Given the description of an element on the screen output the (x, y) to click on. 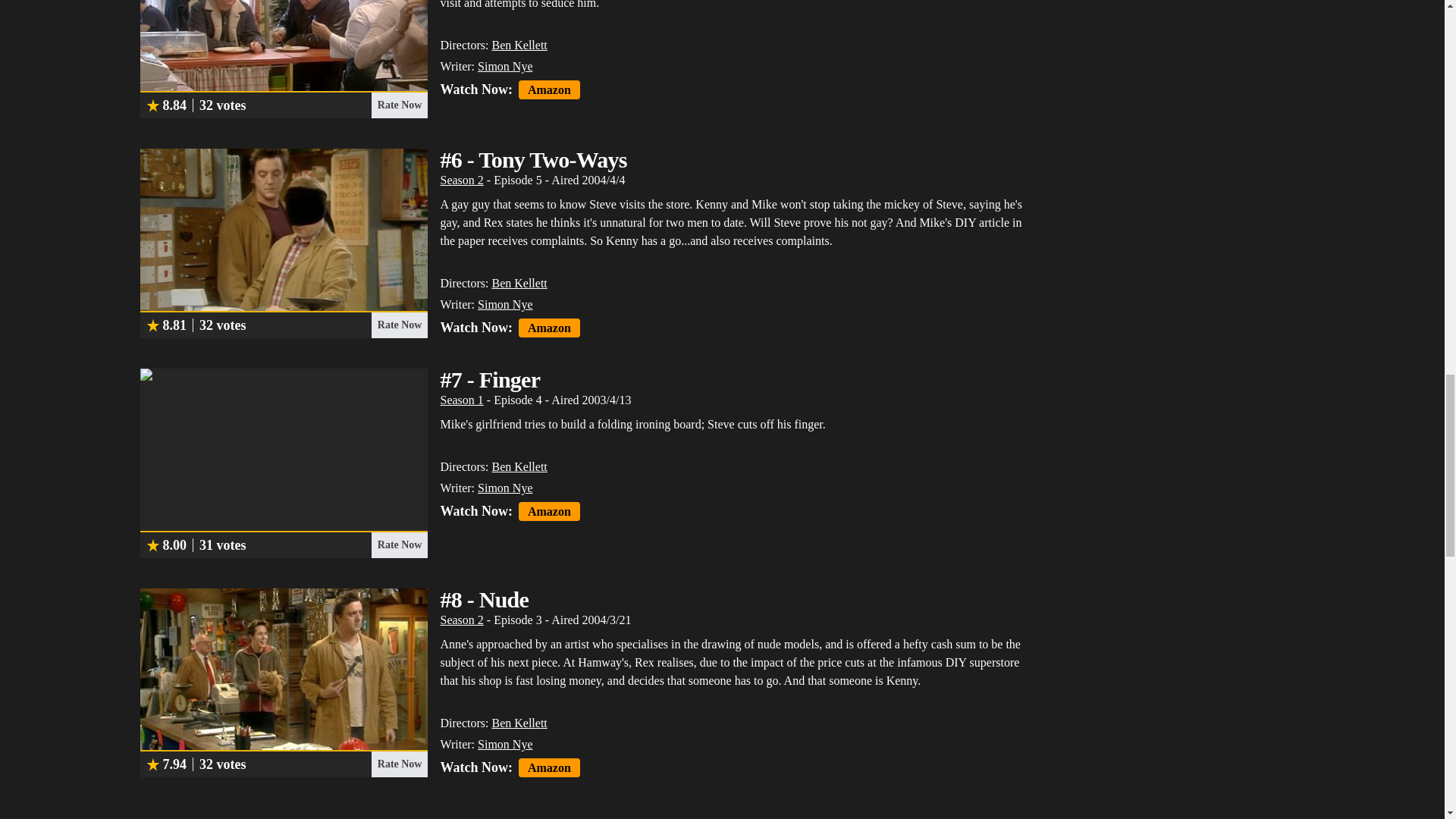
Simon Nye (504, 65)
Amazon (548, 89)
Ben Kellett (519, 44)
Rate Now (399, 325)
Ben Kellett (519, 282)
Rate Now (399, 104)
Season 2 (461, 179)
